Given the description of an element on the screen output the (x, y) to click on. 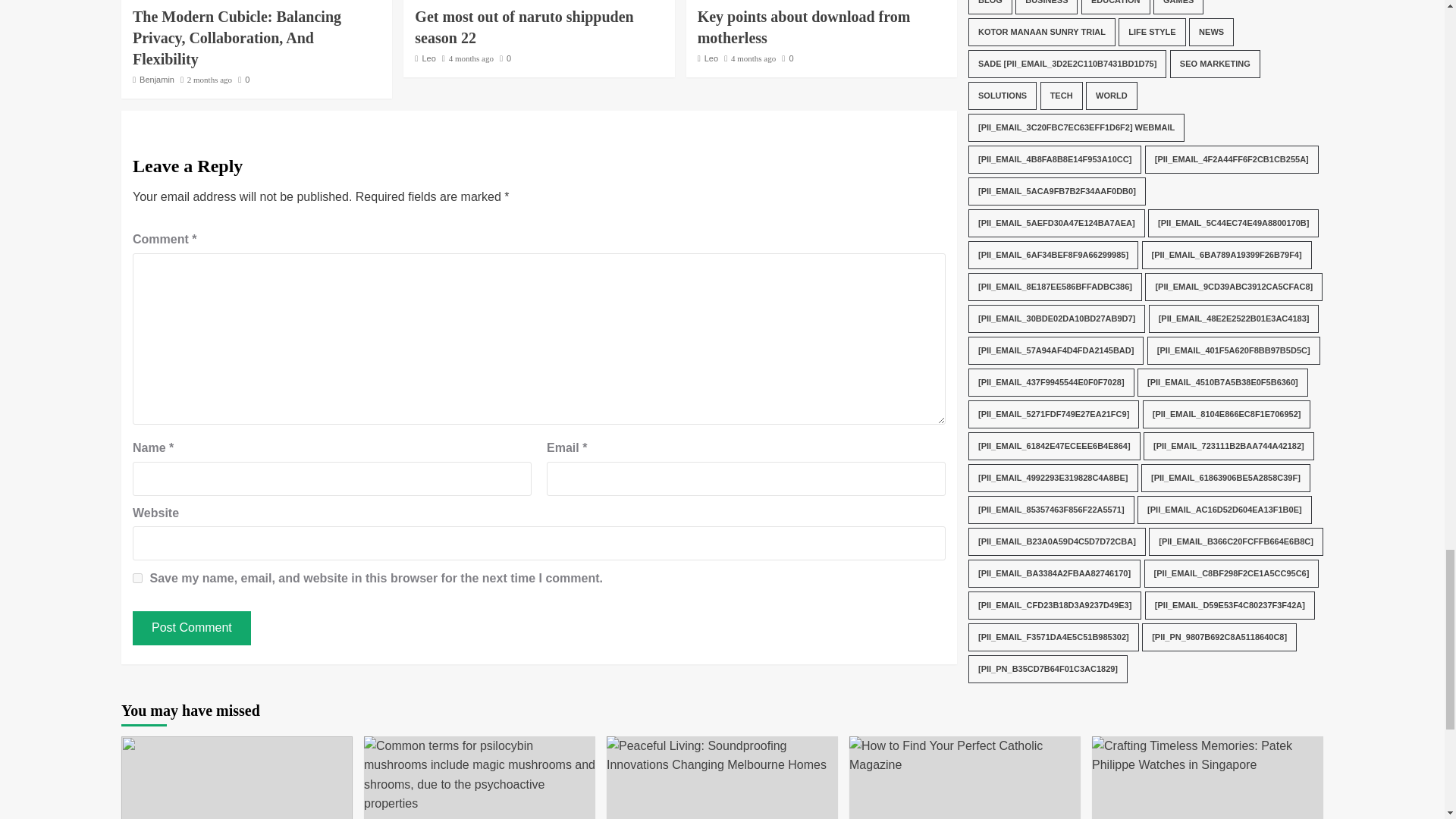
Benjamin (156, 79)
0 (243, 79)
Post Comment (191, 627)
yes (137, 578)
2 months ago (209, 79)
